Given the description of an element on the screen output the (x, y) to click on. 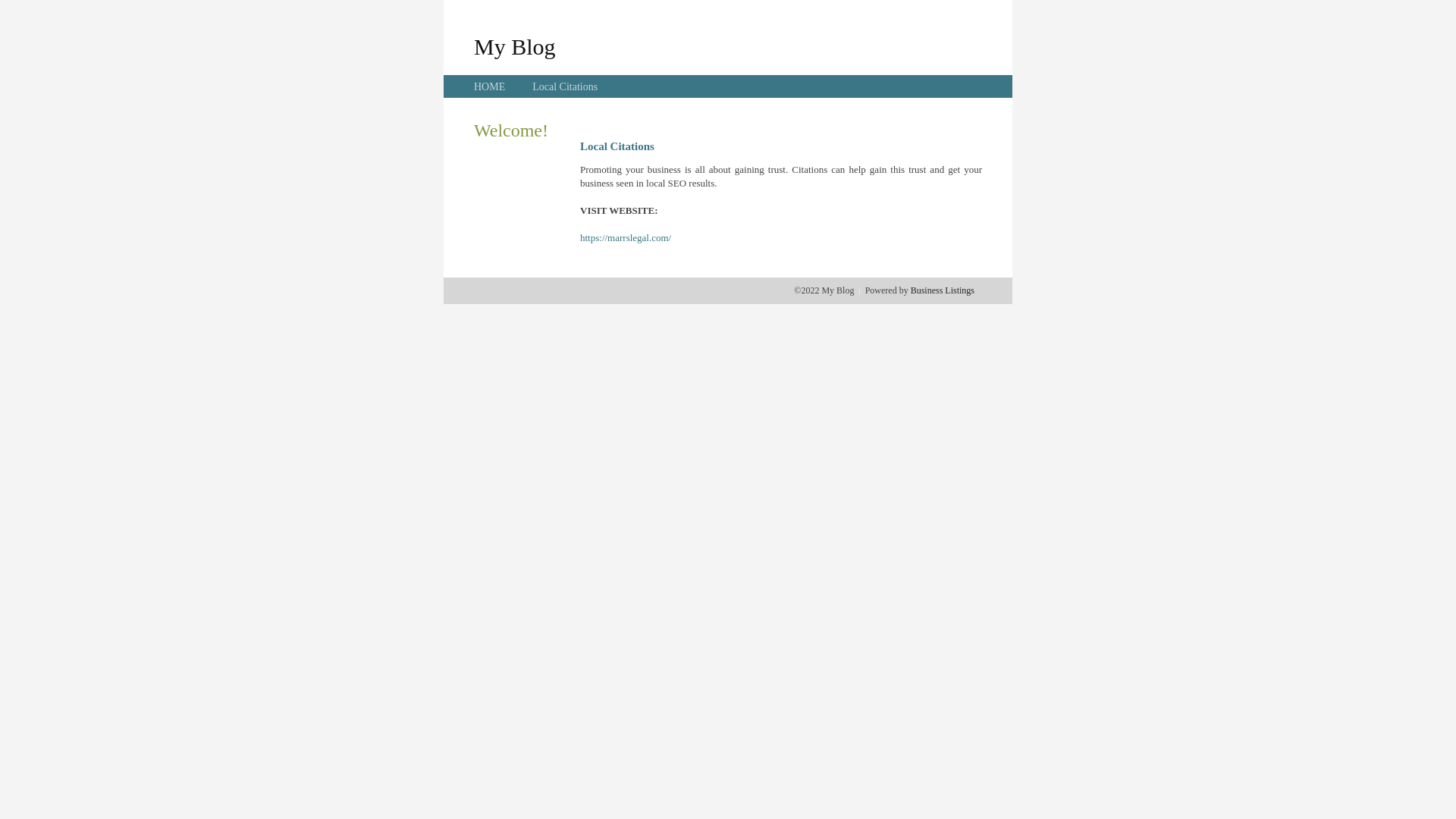
HOME Element type: text (489, 86)
https://marrslegal.com/ Element type: text (625, 237)
Local Citations Element type: text (564, 86)
Business Listings Element type: text (942, 290)
My Blog Element type: text (514, 46)
